Given the description of an element on the screen output the (x, y) to click on. 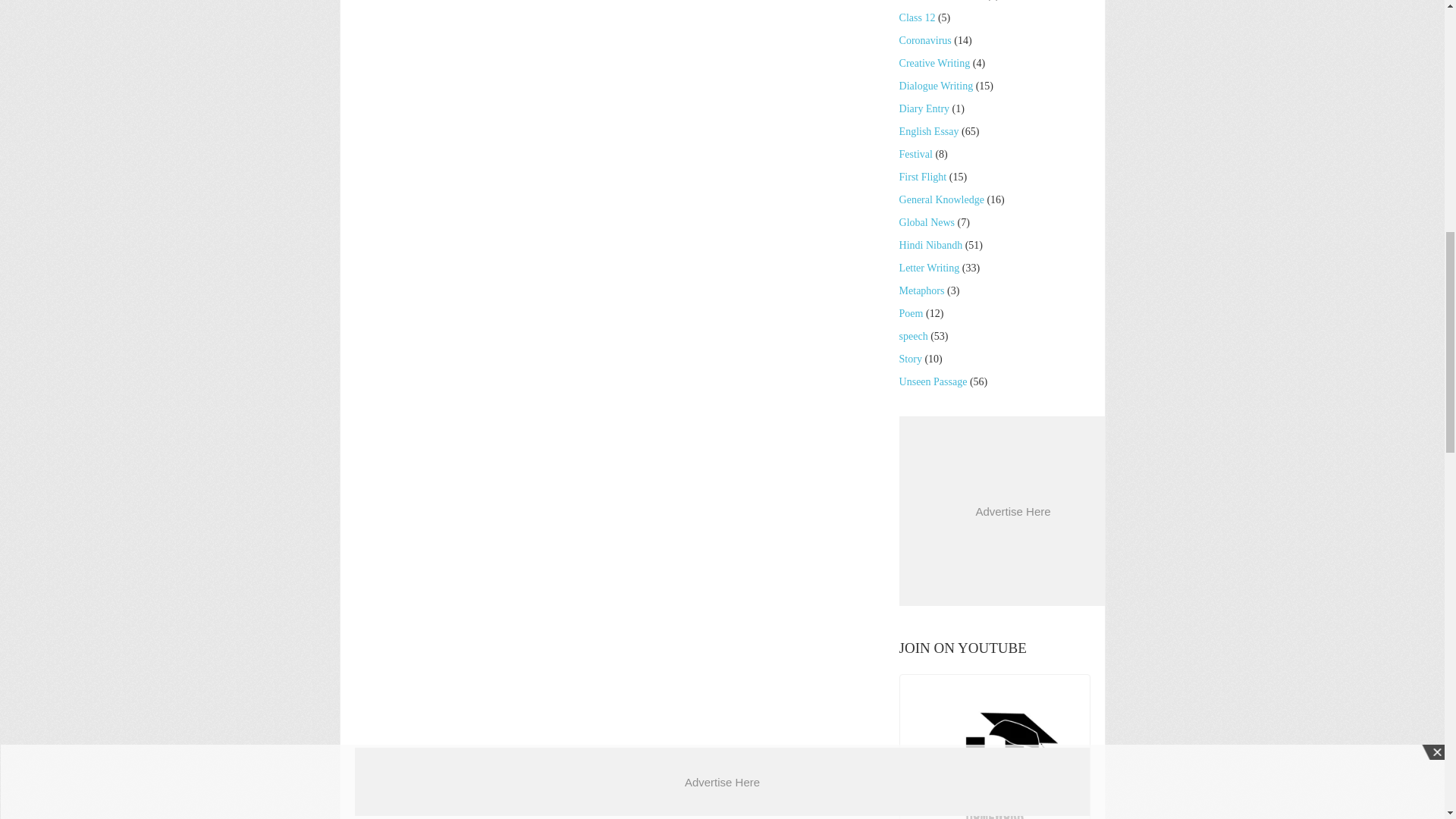
Join on Youtube (994, 748)
